Given the description of an element on the screen output the (x, y) to click on. 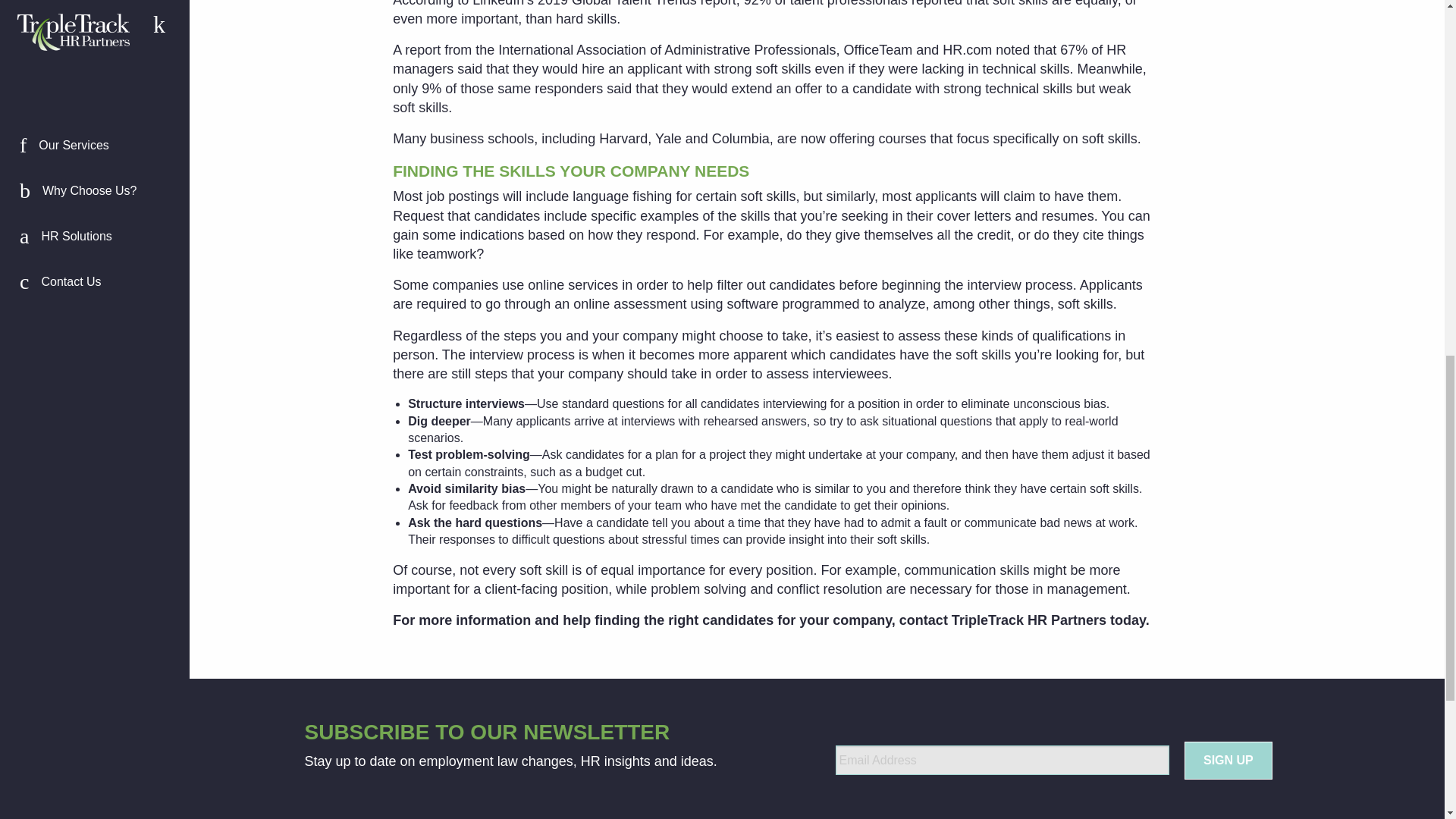
Sign Up (1228, 760)
Sign Up (1228, 760)
